Given the description of an element on the screen output the (x, y) to click on. 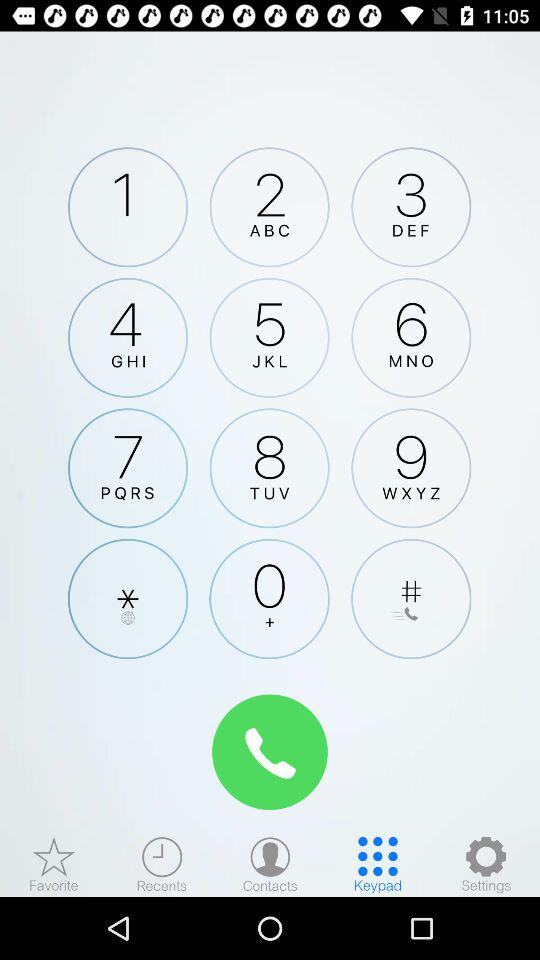
click the pound button/change call (411, 598)
